Given the description of an element on the screen output the (x, y) to click on. 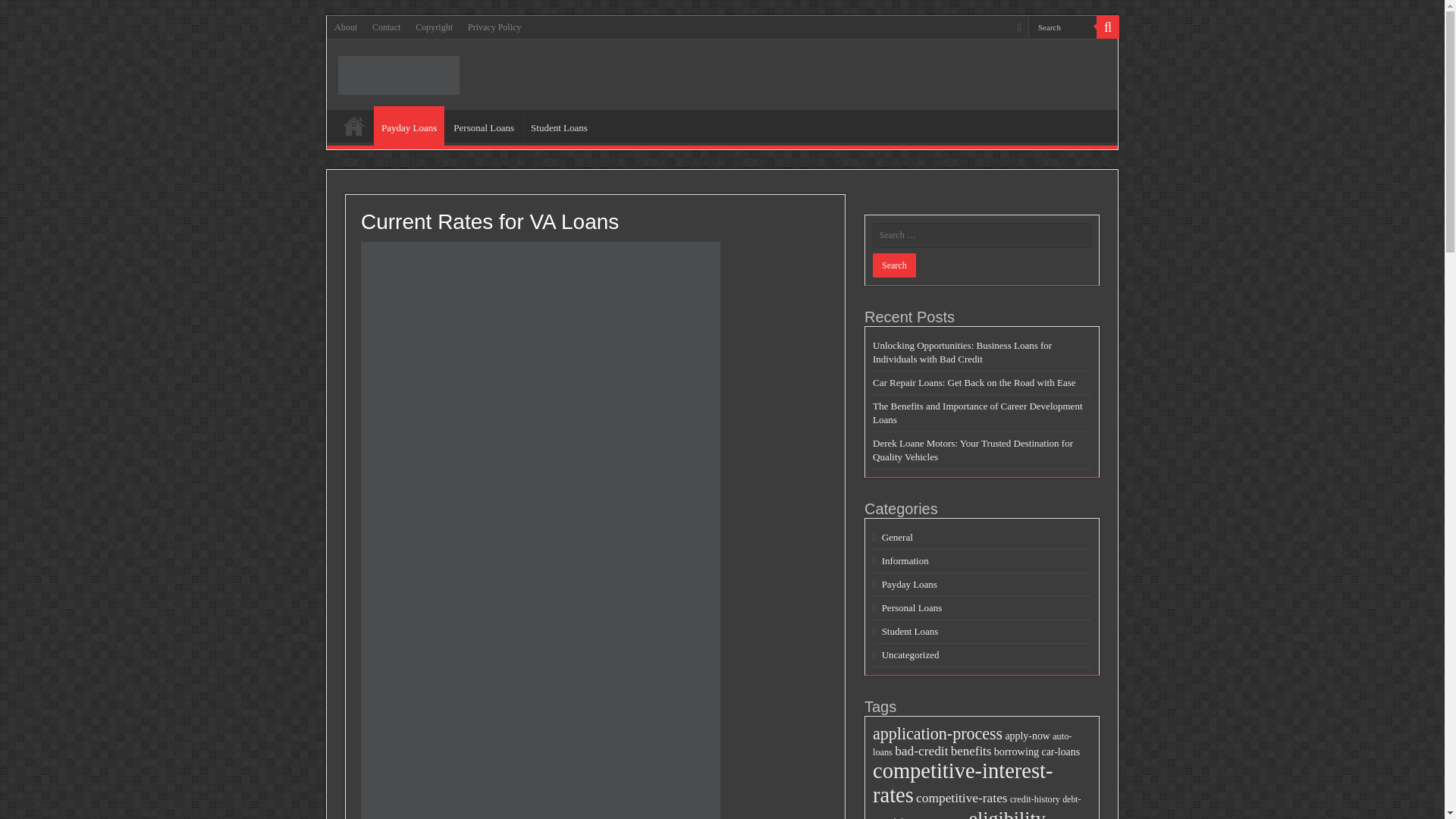
Search (893, 265)
Search (1061, 26)
Search (1107, 26)
General (897, 536)
Loans Online  (398, 72)
The Benefits and Importance of Career Development Loans (977, 412)
Search (1061, 26)
Uncategorized (910, 654)
application-process (937, 732)
Search (893, 265)
Student Loans (910, 631)
apply-now (1026, 736)
Copyright (433, 26)
Payday Loans (409, 125)
Car Repair Loans: Get Back on the Road with Ease (973, 382)
